Given the description of an element on the screen output the (x, y) to click on. 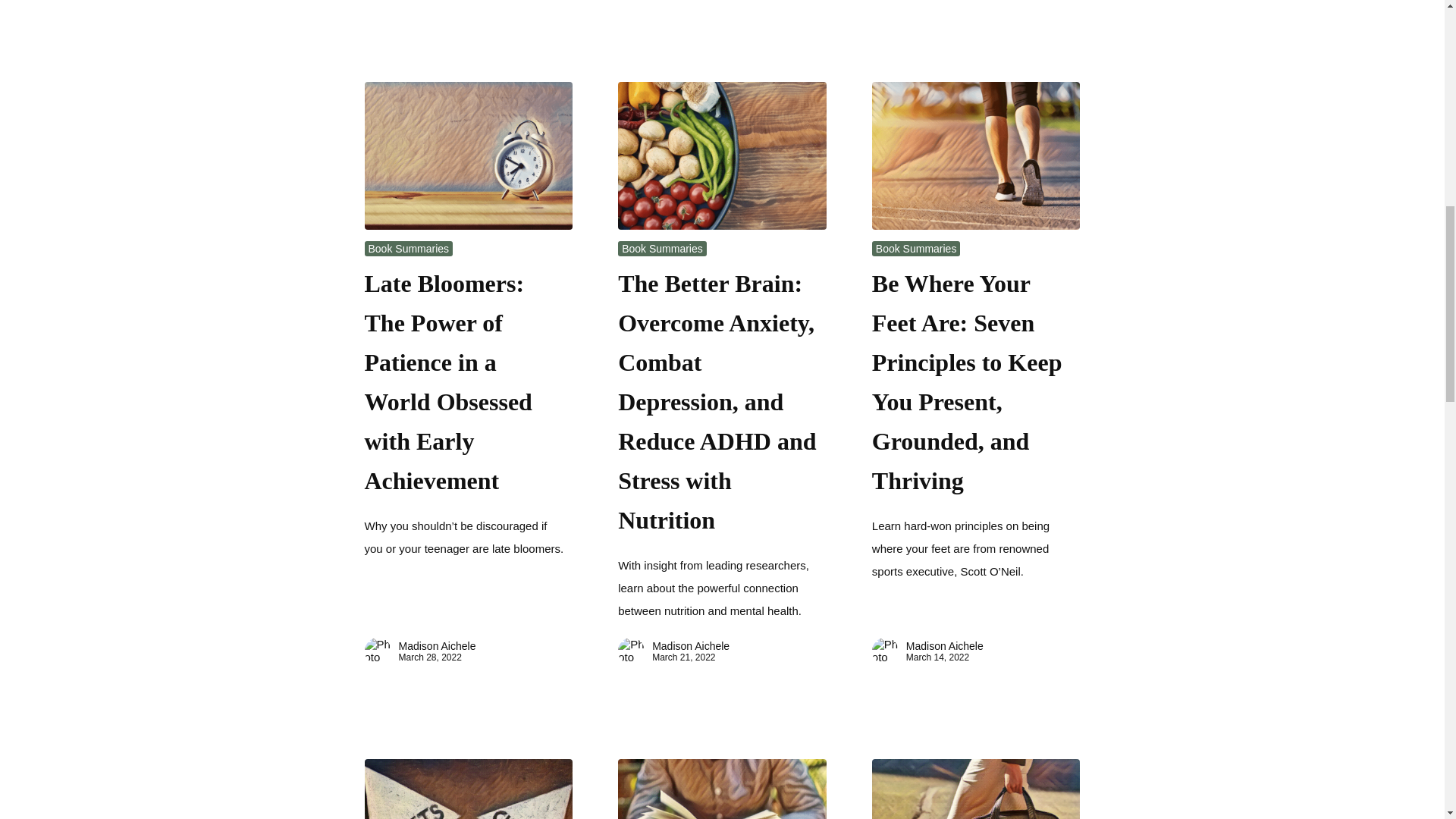
Book Summaries (408, 248)
Book Summaries (662, 248)
Book Summaries (916, 248)
